Given the description of an element on the screen output the (x, y) to click on. 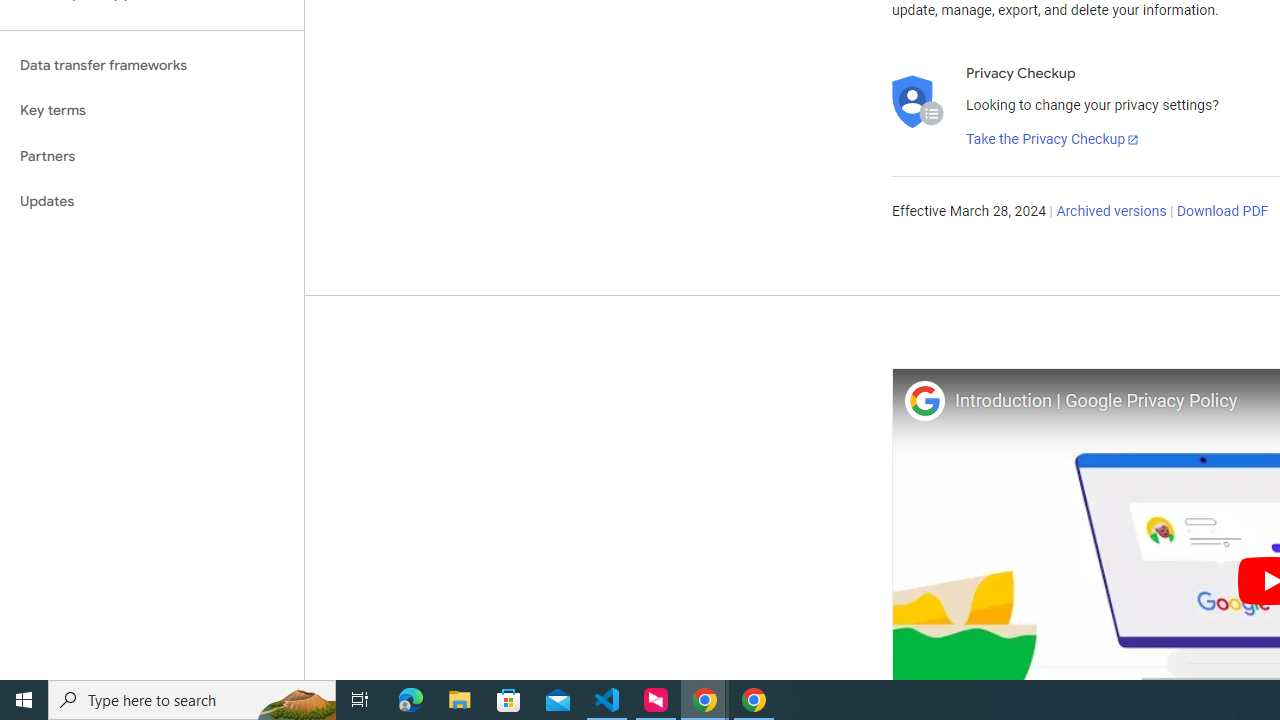
Take the Privacy Checkup (1053, 140)
Photo image of Google (924, 400)
